Given the description of an element on the screen output the (x, y) to click on. 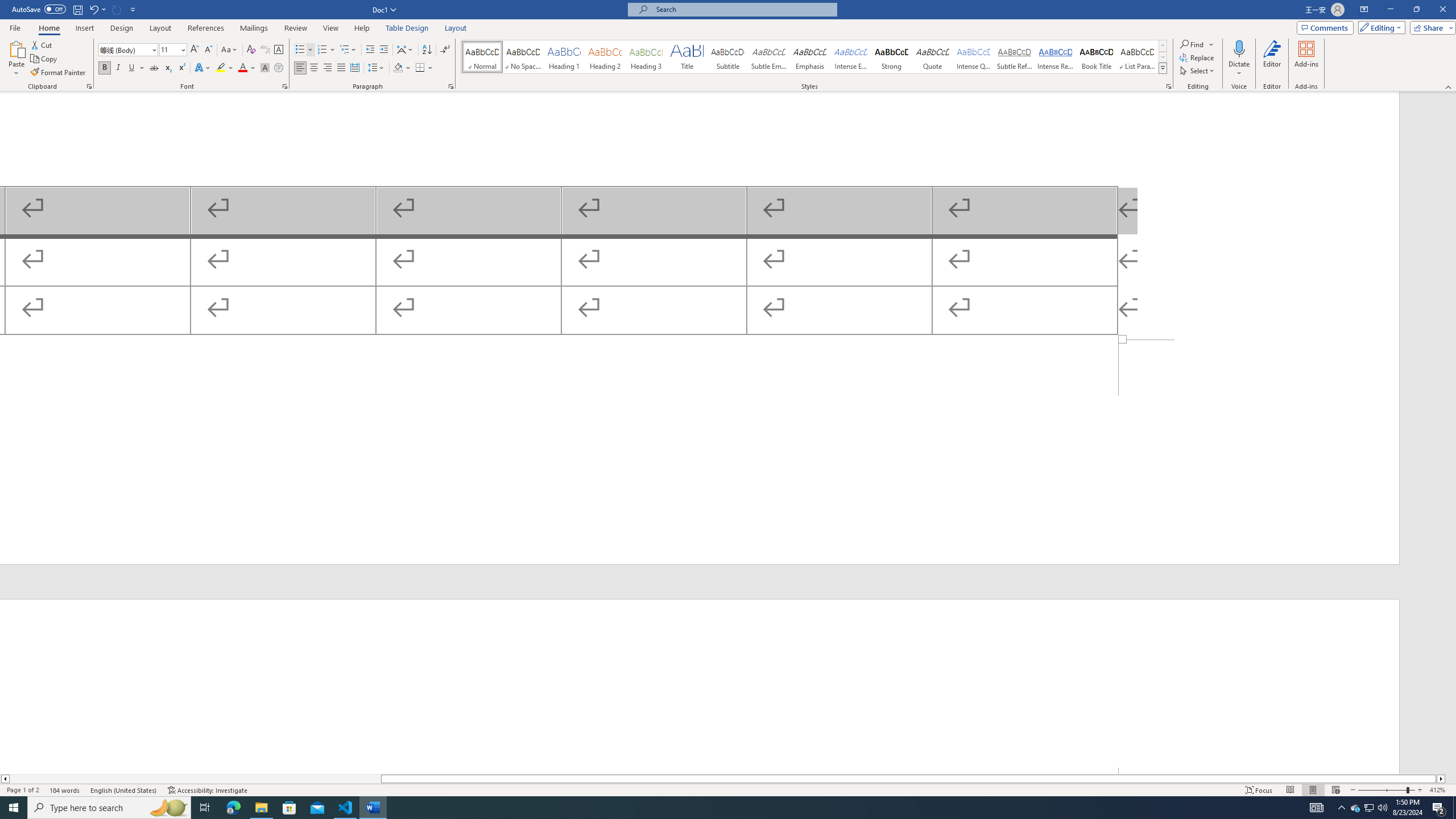
Intense Reference (1055, 56)
Emphasis (809, 56)
